Given the description of an element on the screen output the (x, y) to click on. 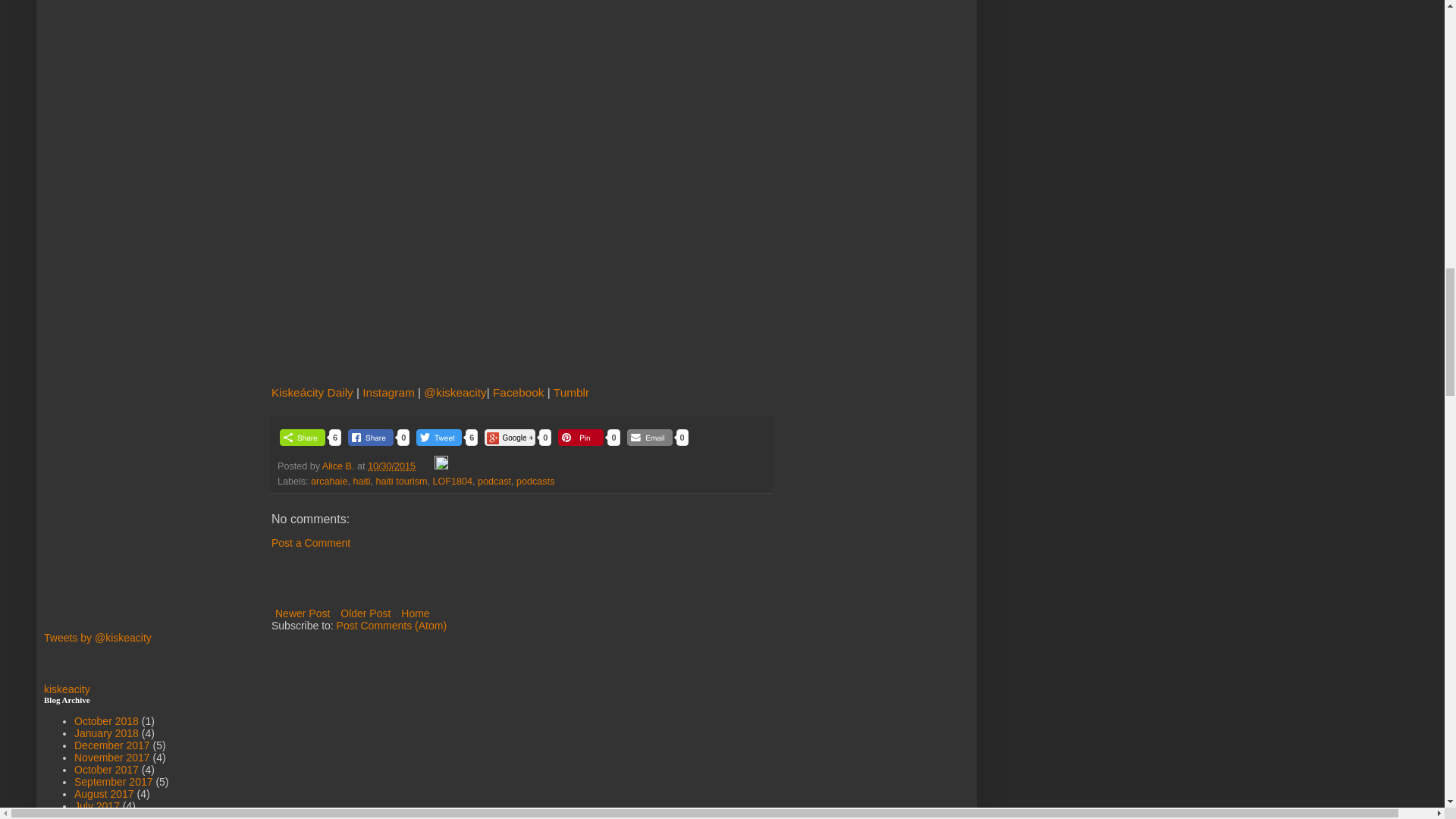
LOF1804 (451, 480)
Post a Comment (310, 542)
Email Post (427, 466)
Newer Post (301, 613)
Alice B. (338, 466)
author profile (338, 466)
arcahaie (329, 480)
Advertisement (359, 582)
Newer Post (301, 613)
permanent link (391, 466)
podcast (494, 480)
Older Post (365, 613)
Older Post (365, 613)
Tumblr (571, 391)
Home (414, 613)
